Given the description of an element on the screen output the (x, y) to click on. 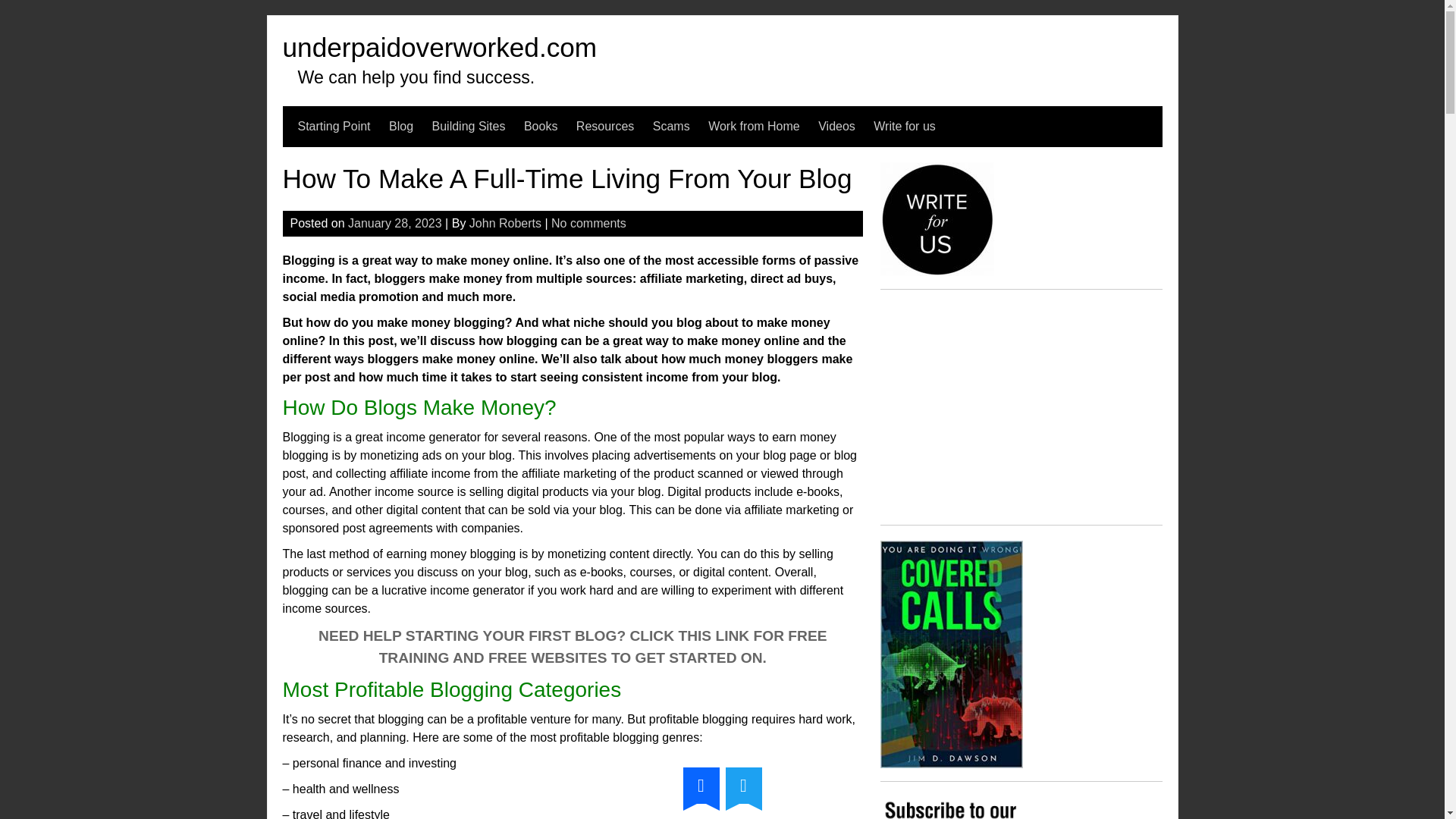
Advertisement (1020, 410)
Building Sites (468, 126)
Twitter (743, 785)
Work from Home (753, 126)
Starting Point (333, 126)
underpaidoverworked.com (439, 47)
Facebook (700, 785)
Scams (671, 126)
underpaidoverworked.com (439, 47)
Resources (604, 126)
